Given the description of an element on the screen output the (x, y) to click on. 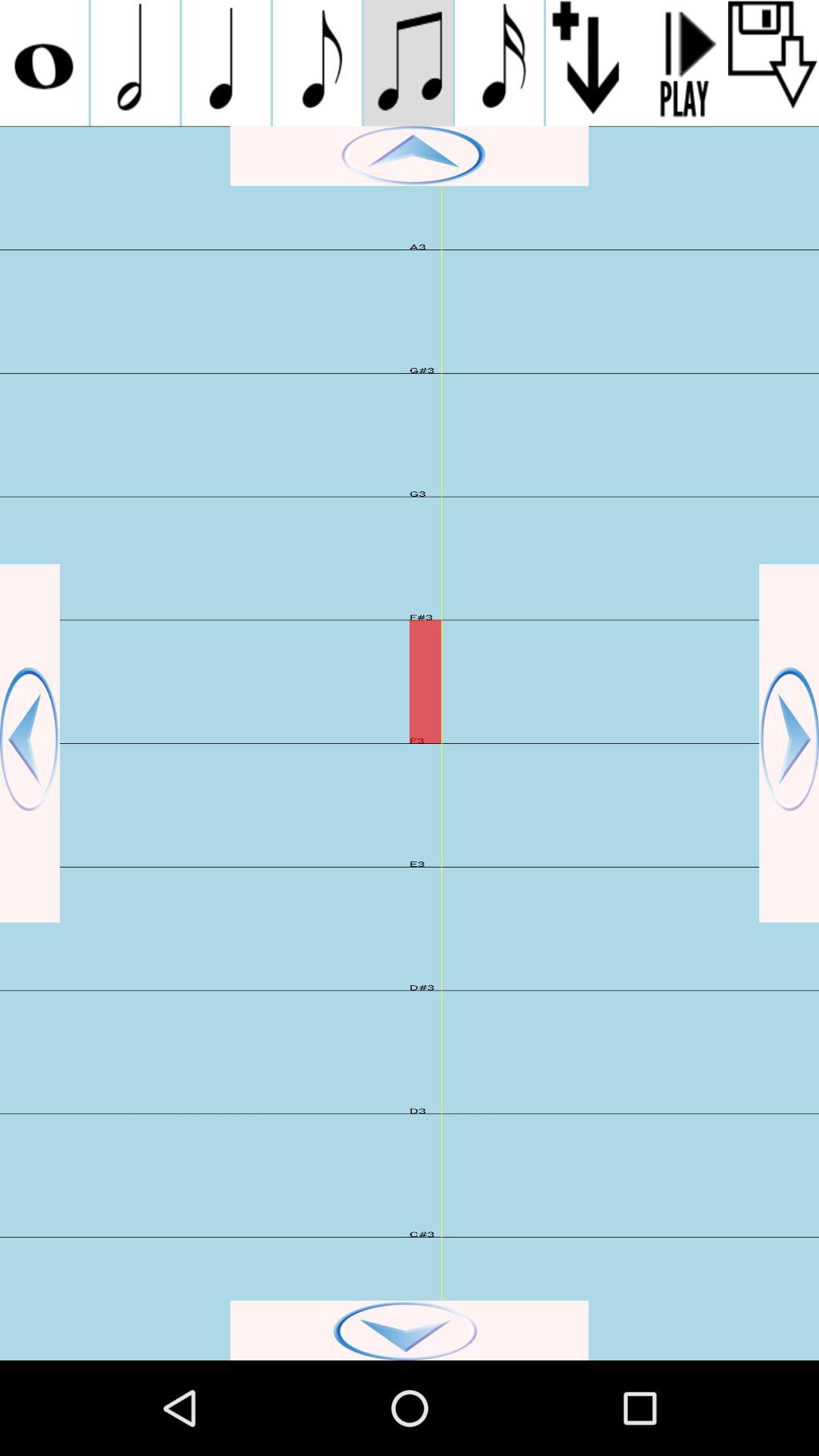
toggle playback (682, 63)
